Given the description of an element on the screen output the (x, y) to click on. 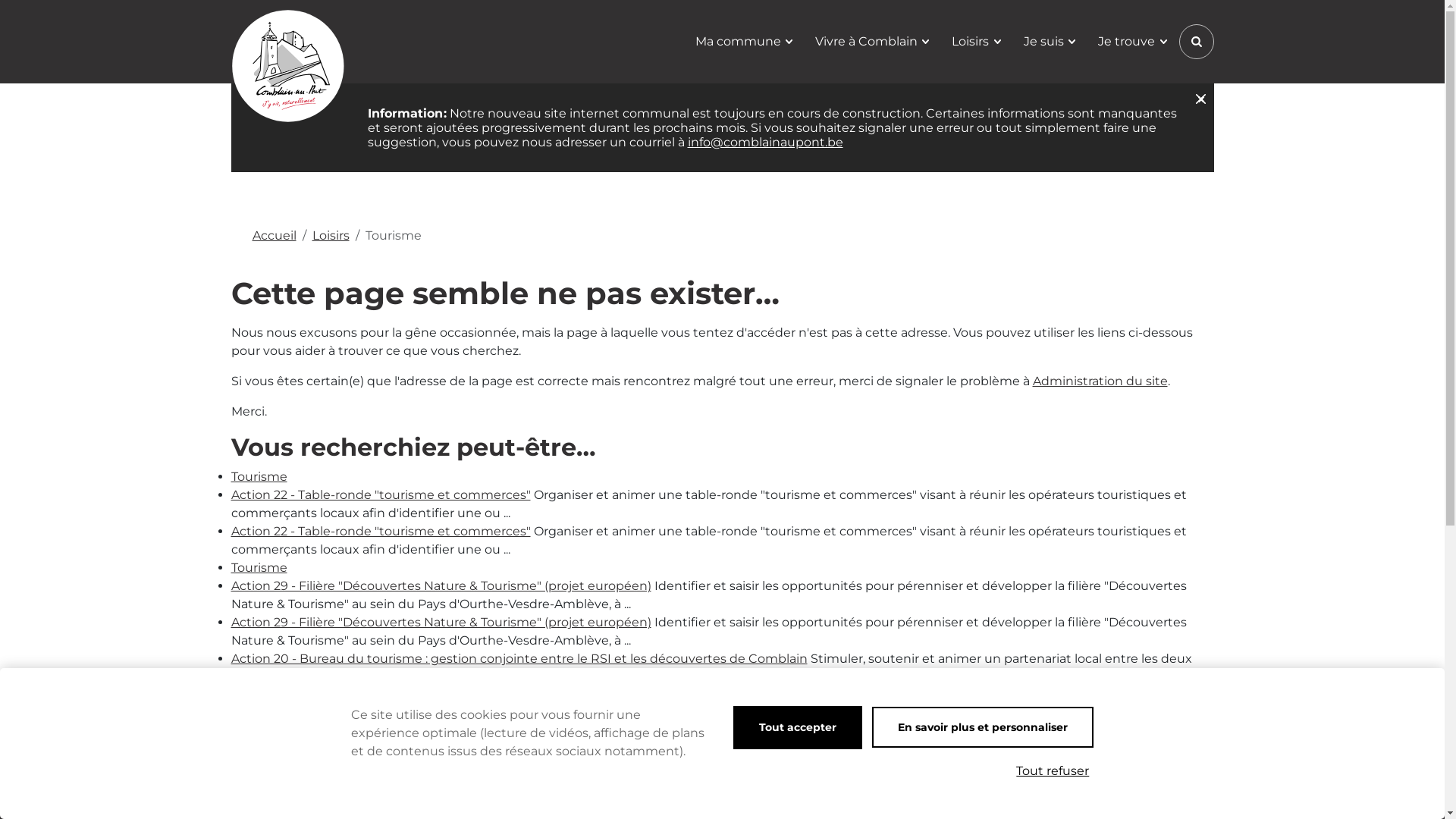
Je suis Element type: text (1049, 41)
Action 22 - Table-ronde "tourisme et commerces" Element type: text (380, 531)
Je trouve Element type: text (1132, 41)
Ma commune Element type: text (743, 41)
Rechercher Element type: text (1195, 41)
Tout refuser Element type: text (1052, 771)
Loisirs Element type: text (330, 235)
Accueil Element type: text (273, 235)
Tourisme Element type: text (258, 476)
Administration du site Element type: text (1099, 380)
info@comblainaupont.be Element type: text (764, 141)
Tourisme Element type: text (258, 567)
Action 22 - Table-ronde "tourisme et commerces" Element type: text (380, 494)
Loisirs Element type: text (975, 41)
Tout accepter Element type: text (797, 727)
Cacher ce message Element type: hover (1200, 97)
En savoir plus et personnaliser Element type: text (982, 726)
